Given the description of an element on the screen output the (x, y) to click on. 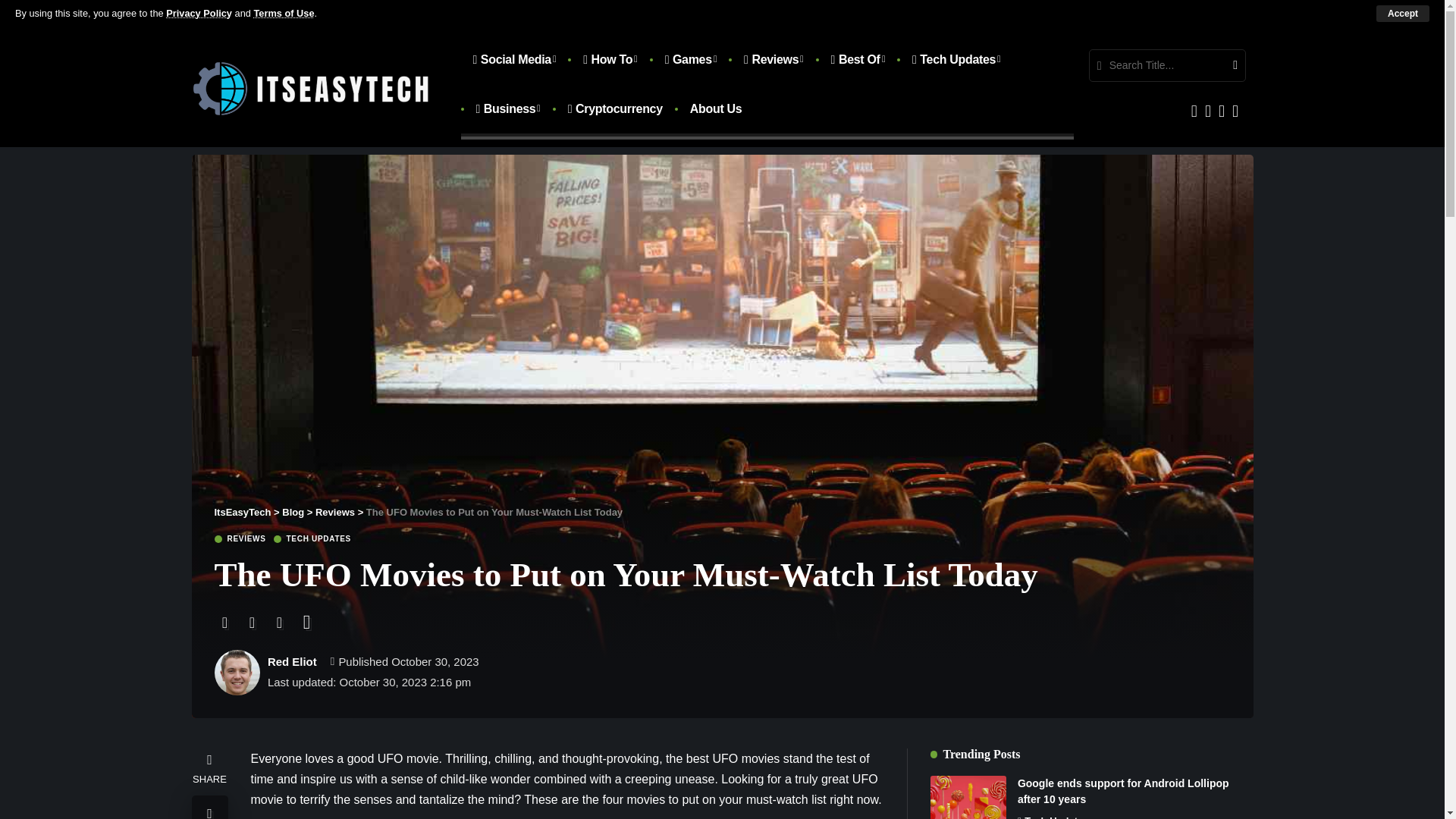
Games (690, 59)
Accept (1402, 13)
How To (609, 59)
Terms of Use (283, 12)
Privacy Policy (198, 12)
Social Media (515, 59)
